Given the description of an element on the screen output the (x, y) to click on. 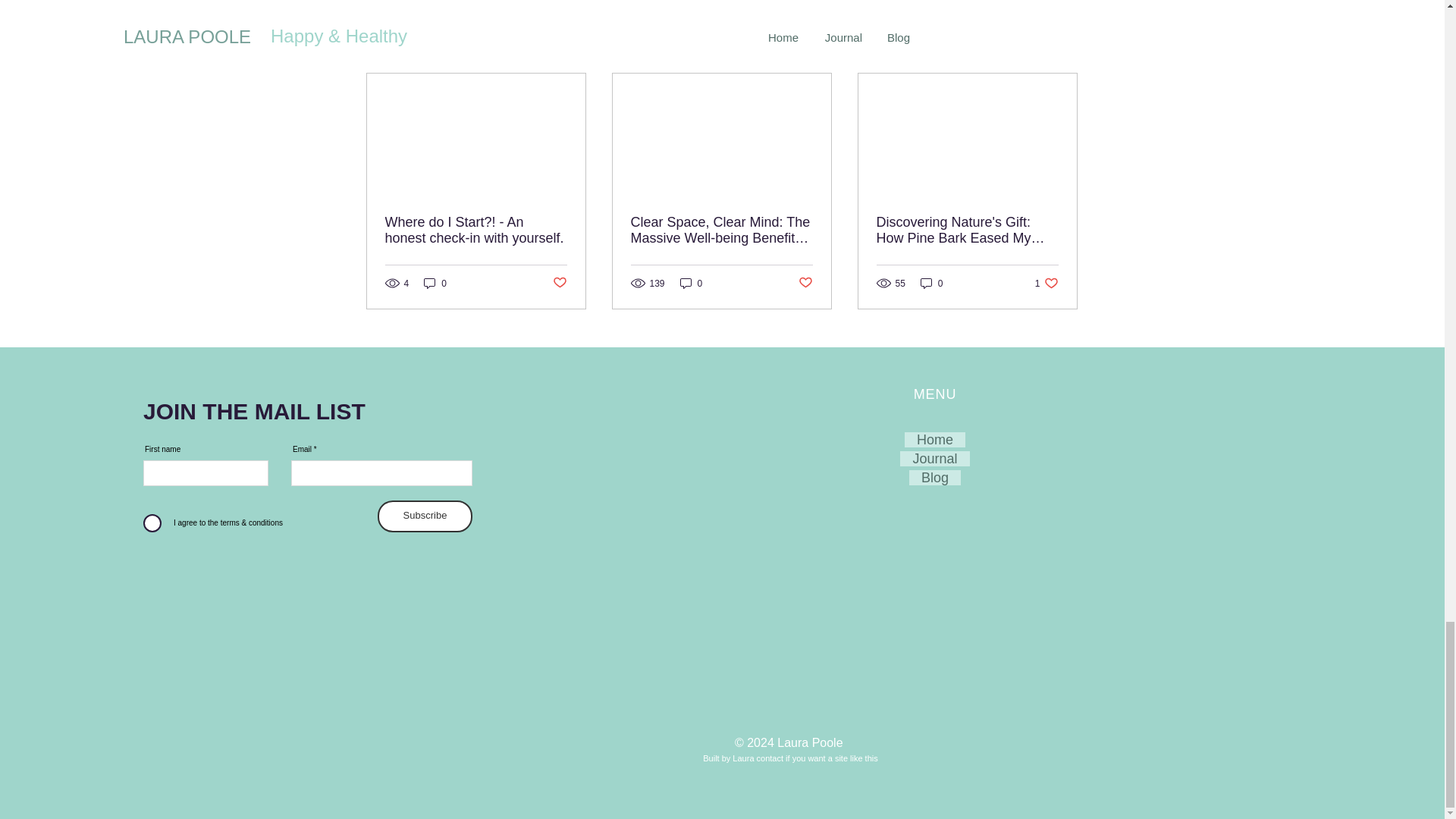
Home (934, 439)
0 (691, 283)
Blog (935, 477)
Subscribe (424, 516)
Post not marked as liked (1046, 283)
0 (558, 283)
Post not marked as liked (931, 283)
Journal (804, 283)
Where do I Start?! - An honest check-in with yourself. (933, 458)
